Given the description of an element on the screen output the (x, y) to click on. 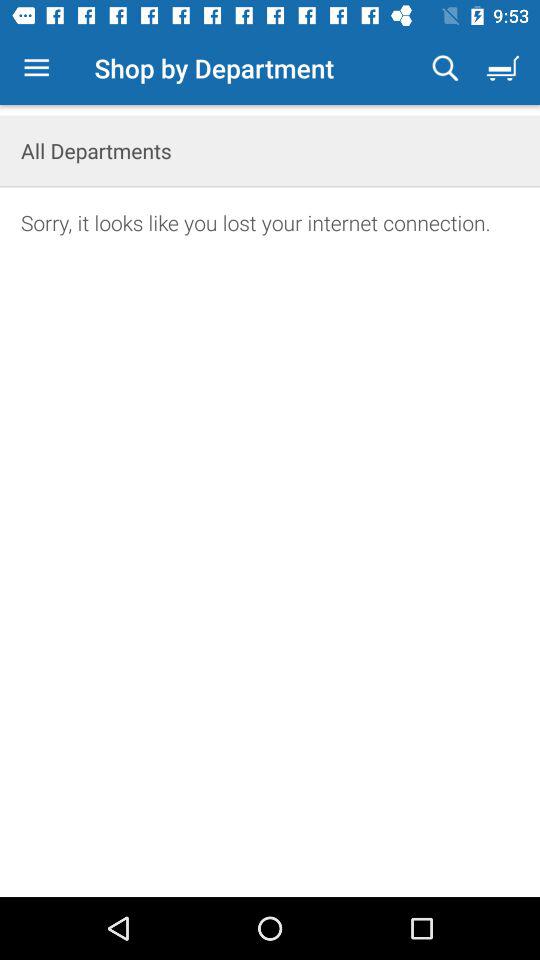
click icon next to shop by department icon (36, 68)
